Given the description of an element on the screen output the (x, y) to click on. 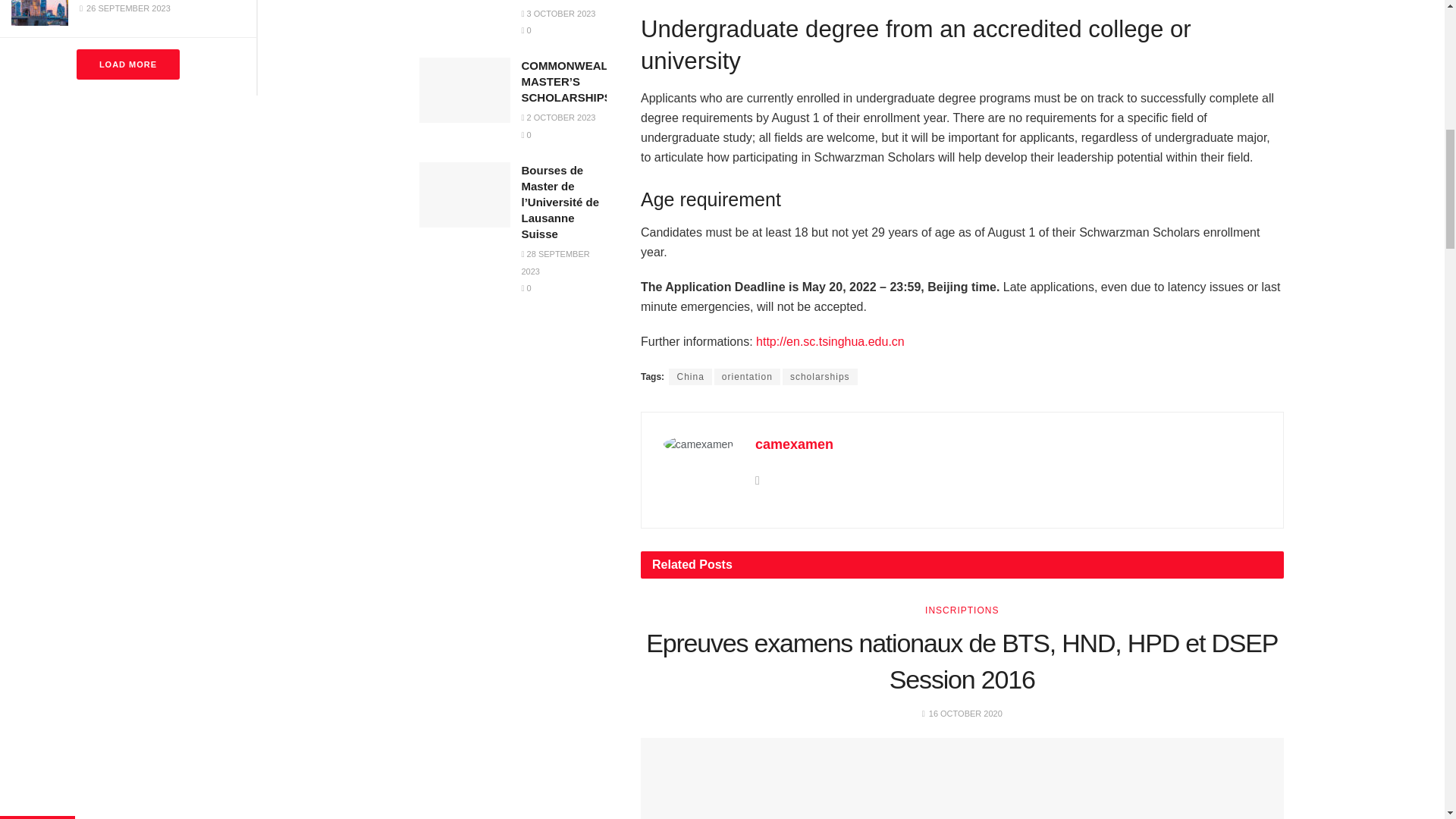
LOAD MORE (128, 64)
